Given the description of an element on the screen output the (x, y) to click on. 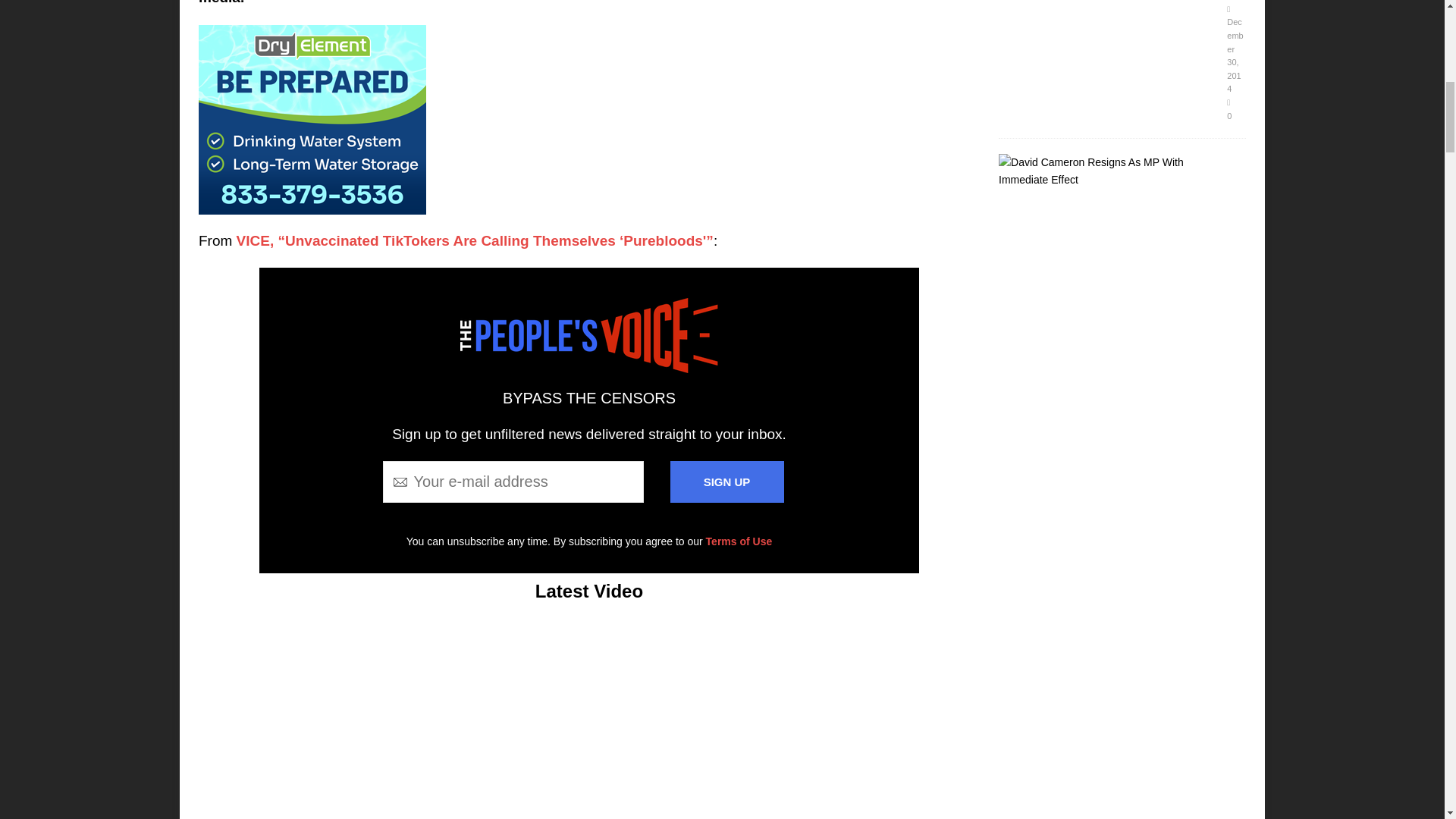
SIGN UP (726, 481)
